Given the description of an element on the screen output the (x, y) to click on. 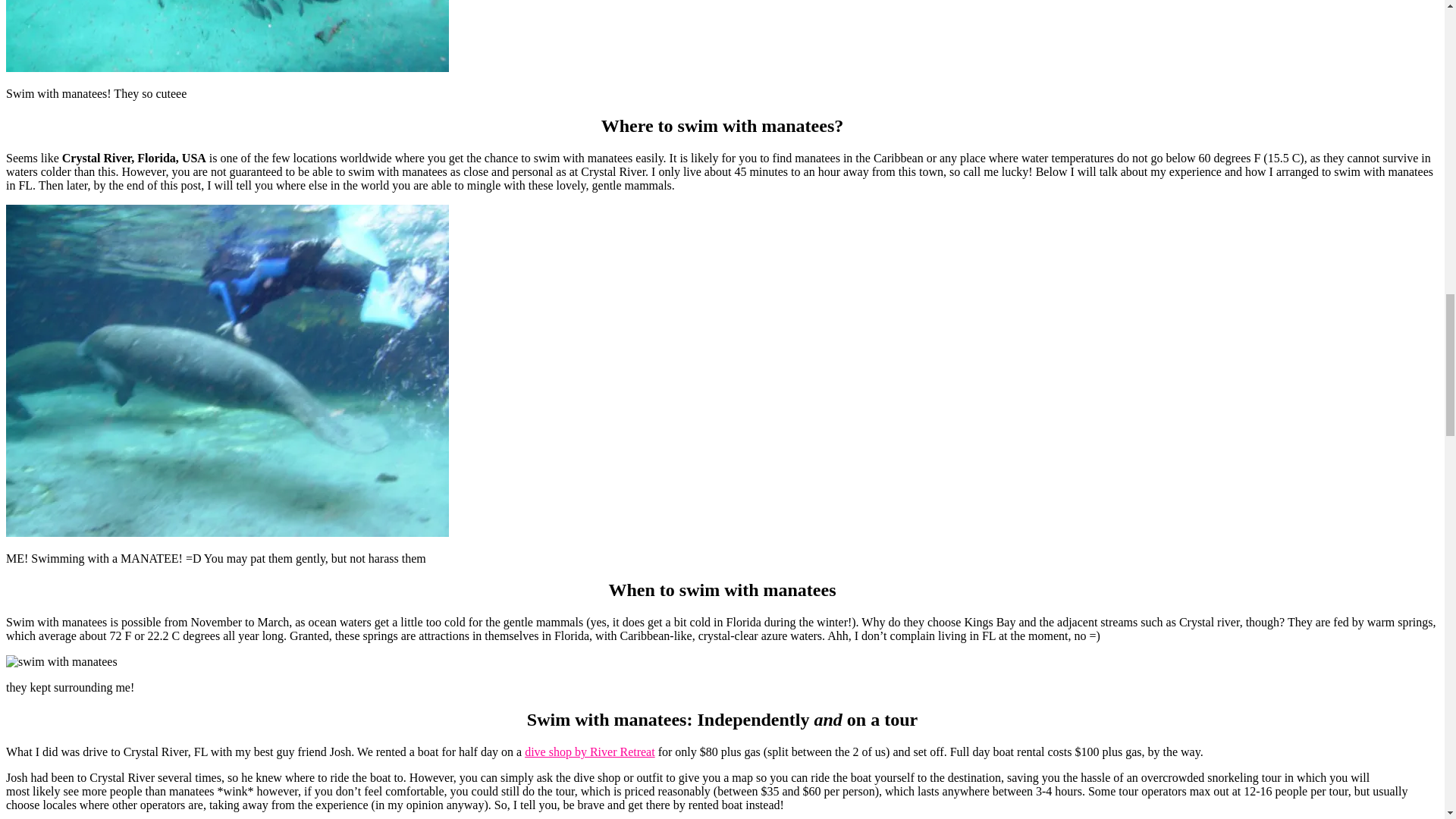
swim with manatees (226, 36)
swim with manatees (61, 662)
